Given the description of an element on the screen output the (x, y) to click on. 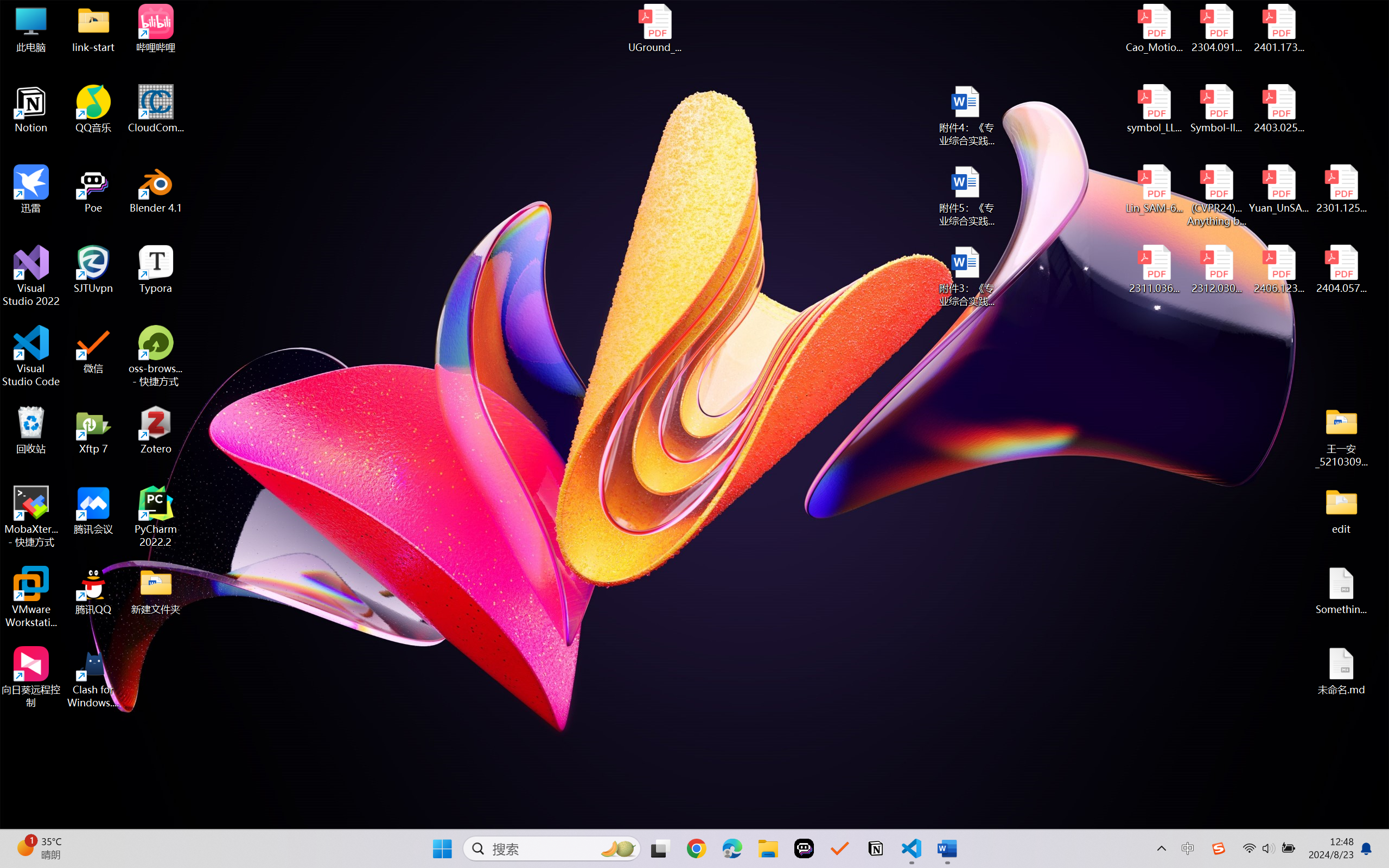
2401.17399v1.pdf (1278, 28)
edit (1340, 510)
2301.12597v3.pdf (1340, 189)
Something.md (1340, 591)
